Given the description of an element on the screen output the (x, y) to click on. 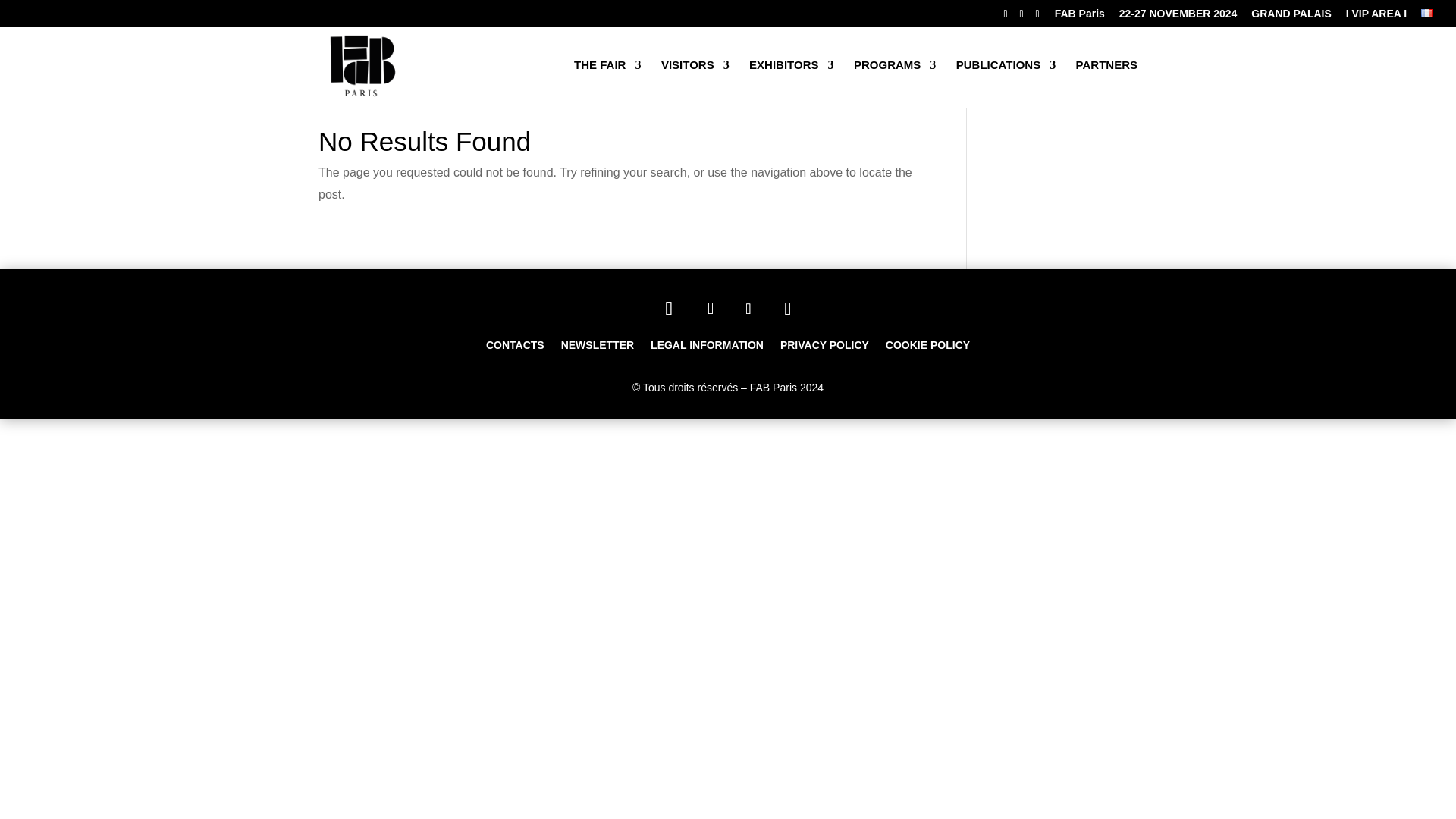
Follow on X (747, 308)
FAB Paris (1079, 16)
VISITORS (695, 77)
22-27 NOVEMBER 2024 (1178, 16)
THE FAIR (606, 77)
PARTNERS (1106, 77)
GRAND PALAIS (1291, 16)
PUBLICATIONS (1005, 77)
CONTACTS (515, 347)
I VIP AREA I (1375, 16)
PROGRAMS (894, 77)
Follow on Facebook (710, 308)
Follow on LinkedIn (788, 308)
EXHIBITORS (790, 77)
Follow on Instagram (668, 308)
